Given the description of an element on the screen output the (x, y) to click on. 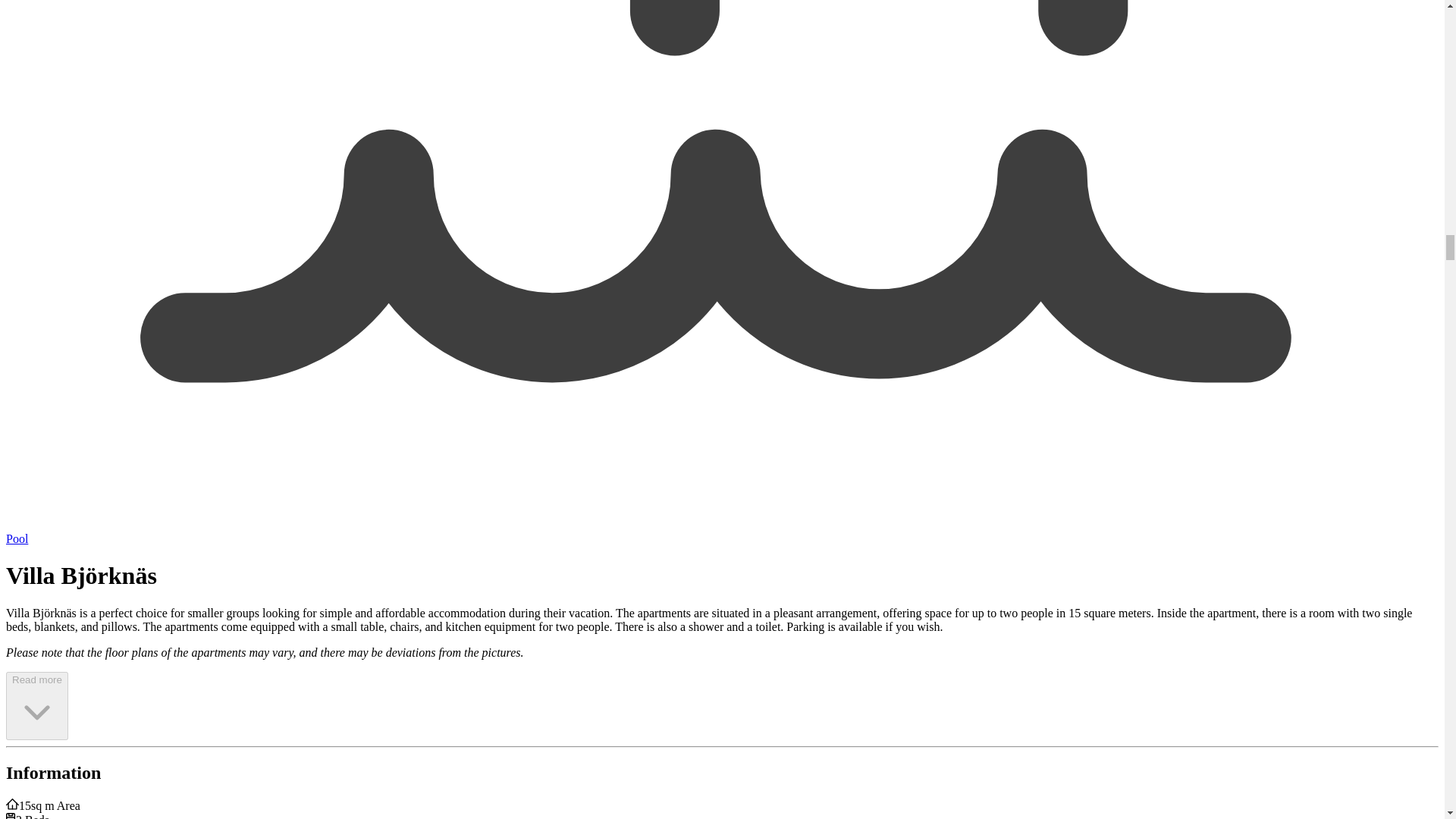
Read more (36, 705)
